Given the description of an element on the screen output the (x, y) to click on. 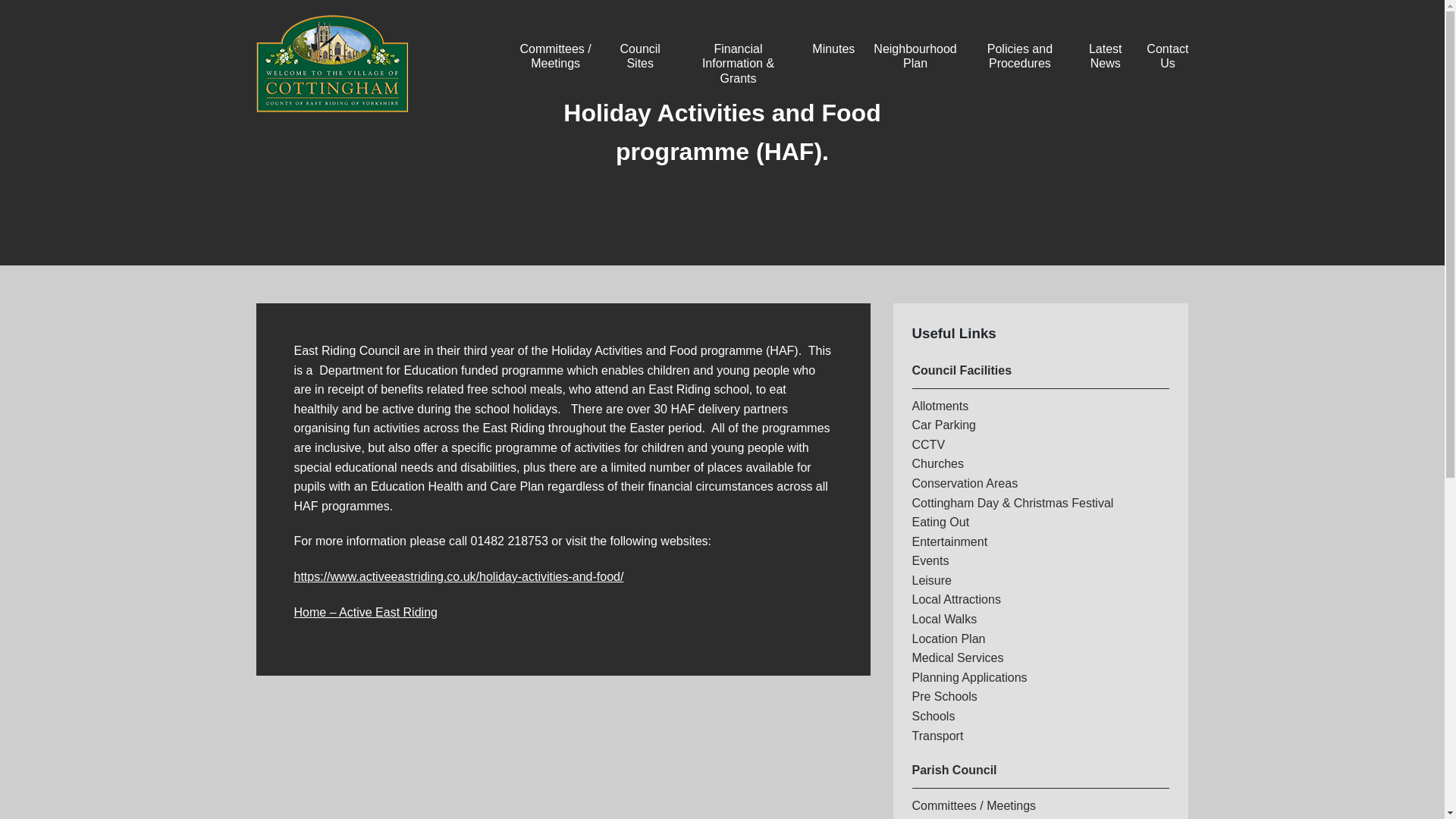
Council Sites (640, 55)
Conservation Areas (964, 482)
Churches (936, 463)
Policies and Procedures (1019, 55)
Minutes (833, 48)
Local Attractions (955, 599)
Latest News (1105, 55)
Parish Council (953, 769)
Entertainment (949, 541)
Transport (936, 735)
